Given the description of an element on the screen output the (x, y) to click on. 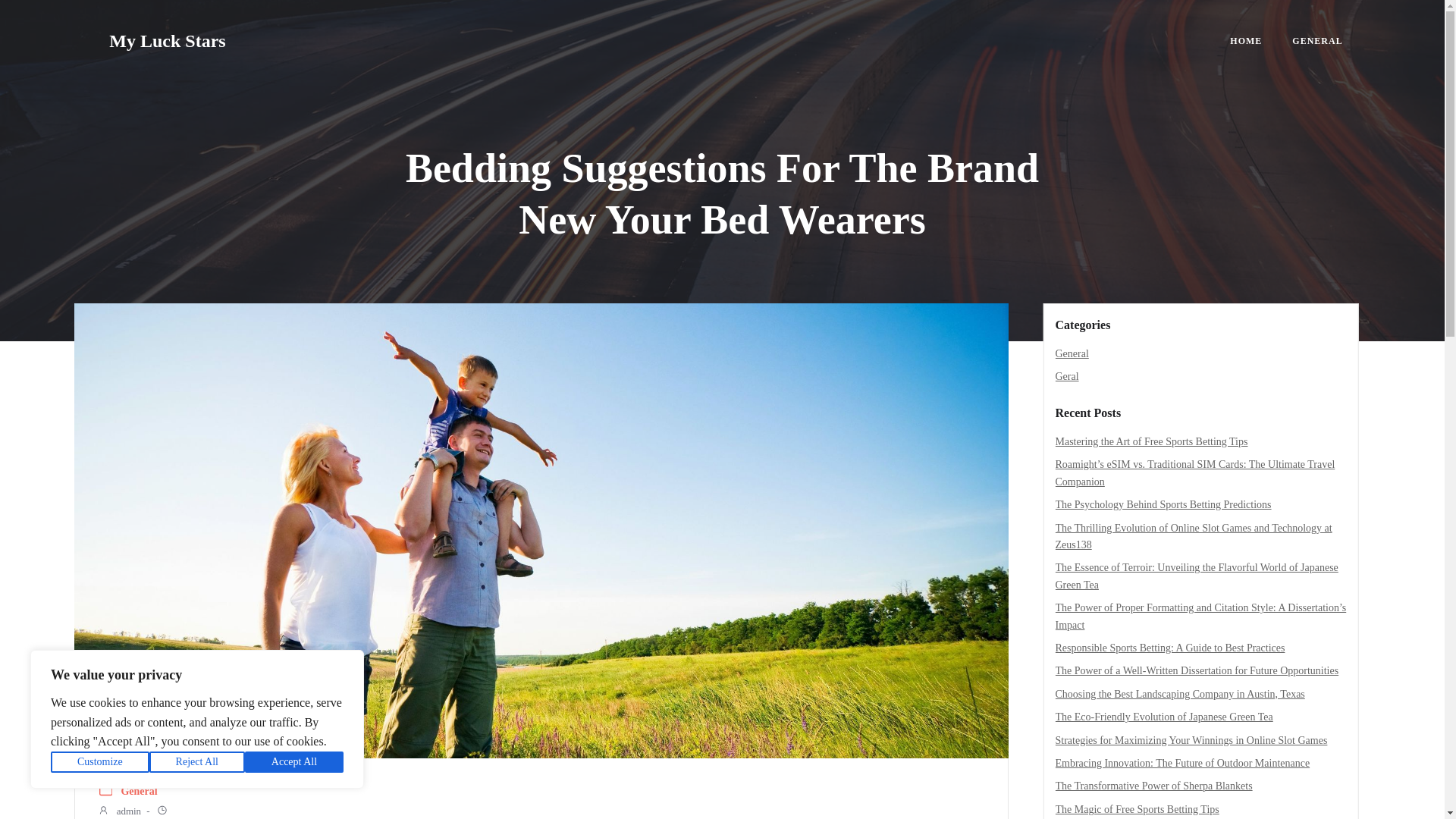
GENERAL (1317, 40)
General (138, 791)
The Psychology Behind Sports Betting Predictions (1163, 504)
My Luck Stars (167, 40)
General (1072, 353)
Accept All (293, 762)
Reject All (196, 762)
Geral (1066, 376)
HOME (1246, 40)
Mastering the Art of Free Sports Betting Tips (1151, 441)
admin (119, 811)
Customize (99, 762)
